Given the description of an element on the screen output the (x, y) to click on. 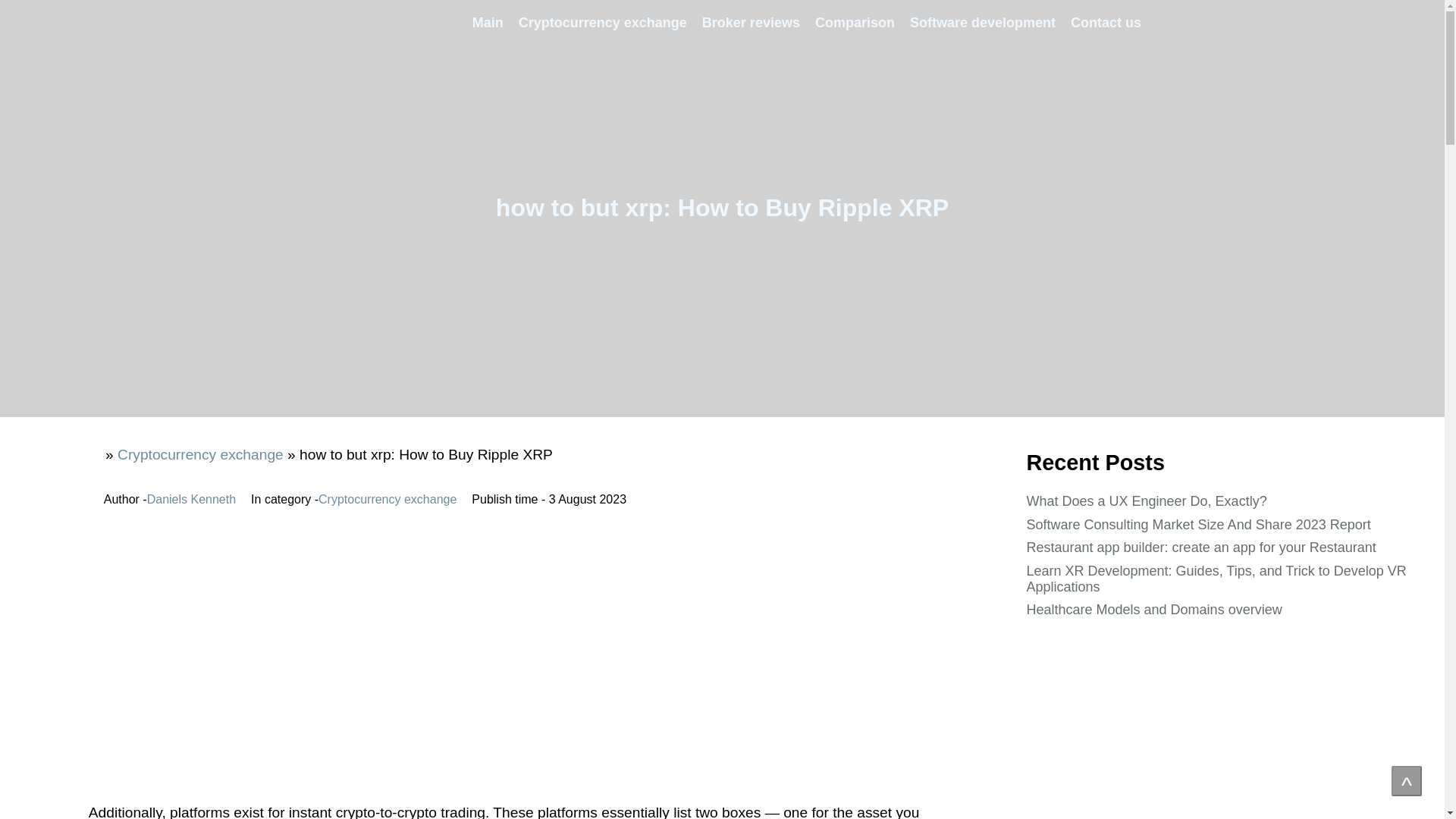
Main (487, 22)
Cryptocurrency exchange (602, 22)
Cryptocurrency exchange (387, 499)
Go to top (1406, 780)
Cryptocurrency exchange (200, 454)
Daniels Kenneth (191, 499)
Software development (982, 22)
Comparison (855, 22)
Broker reviews (751, 22)
Contact us (1105, 22)
